Given the description of an element on the screen output the (x, y) to click on. 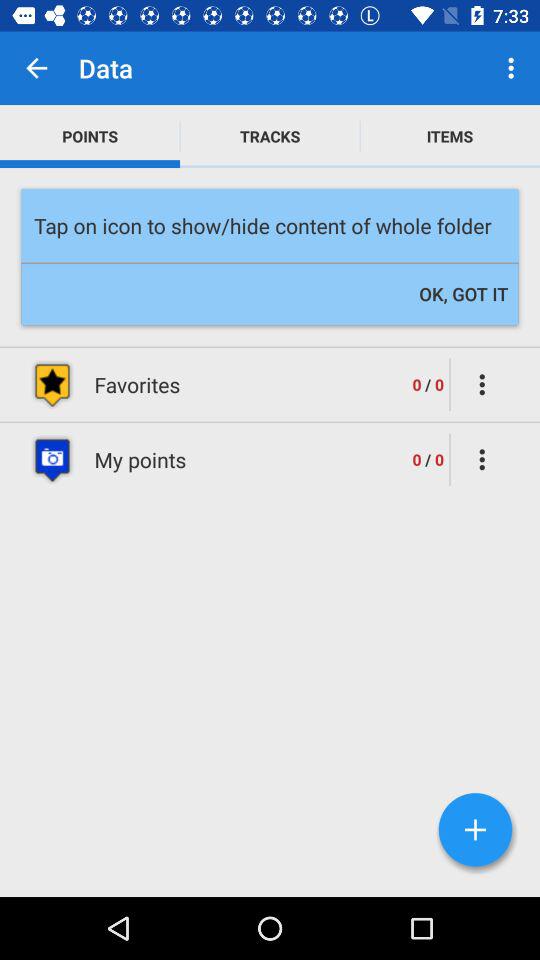
launch the icon next to the data (36, 68)
